Given the description of an element on the screen output the (x, y) to click on. 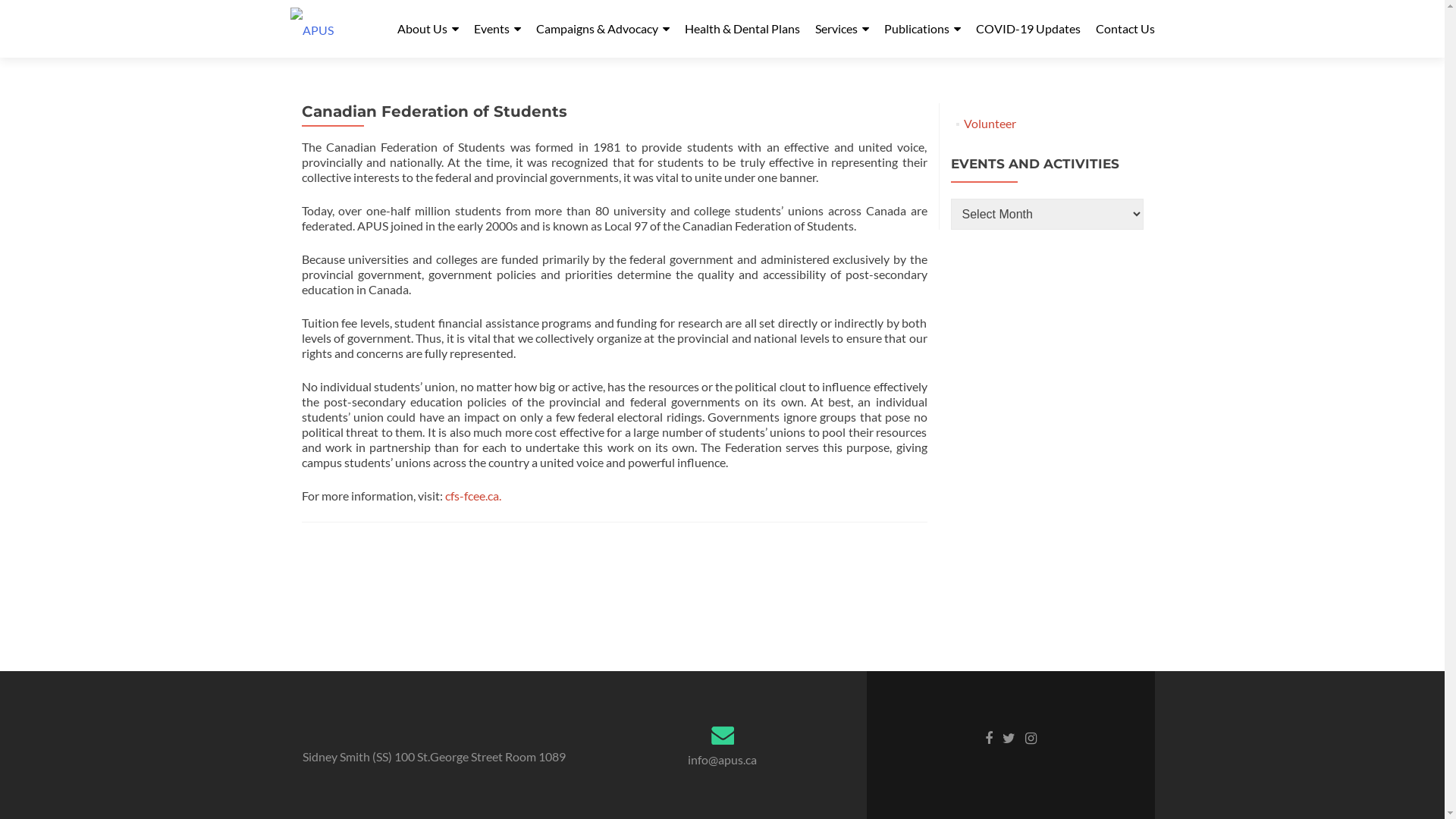
cfs-fcee.ca. Element type: text (472, 495)
Events Element type: text (496, 28)
COVID-19 Updates Element type: text (1027, 28)
Services Element type: text (841, 28)
Facebook link Element type: hover (987, 736)
About Us Element type: text (427, 28)
Contact Us Element type: text (1124, 28)
Volunteer Element type: text (989, 123)
Health & Dental Plans Element type: text (741, 28)
Campaigns & Advocacy Element type: text (601, 28)
Instagram link Element type: hover (1030, 736)
Publications Element type: text (922, 28)
Twitter link Element type: hover (1008, 736)
